Given the description of an element on the screen output the (x, y) to click on. 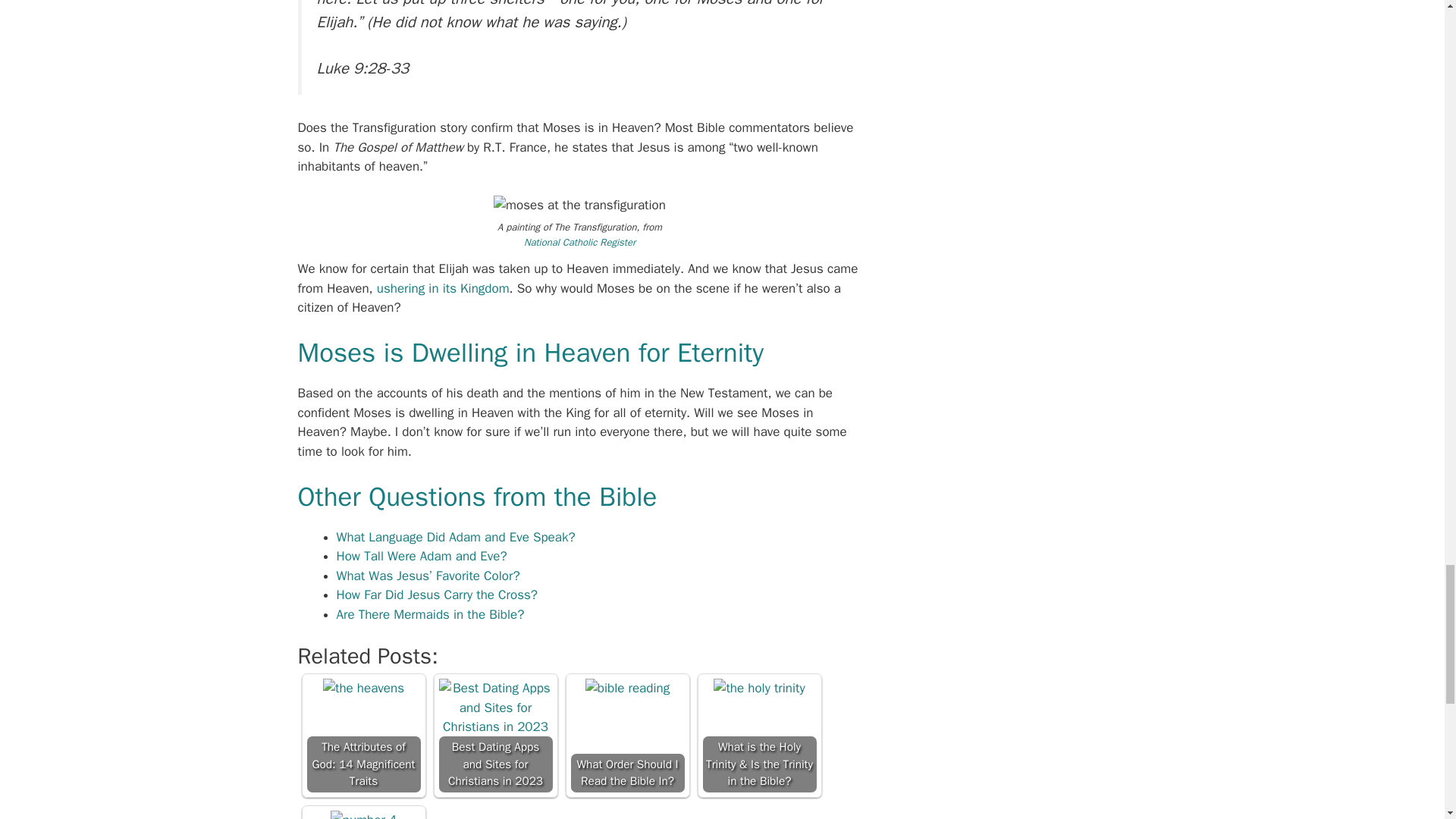
National Catholic Register (579, 241)
What Does the Number 4 Mean in the Bible? (363, 814)
Best Dating Apps and Sites for Christians in 2023 (494, 707)
How Far Did Jesus Carry the Cross? (437, 594)
The Attributes of God: 14 Magnificent Traits (363, 688)
What Order Should I Read the Bible In? (627, 688)
How Tall Were Adam and Eve? (421, 555)
Are There Mermaids in the Bible? (430, 614)
What Language Did Adam and Eve Speak? (455, 537)
ushering in its Kingdom (443, 288)
